Given the description of an element on the screen output the (x, y) to click on. 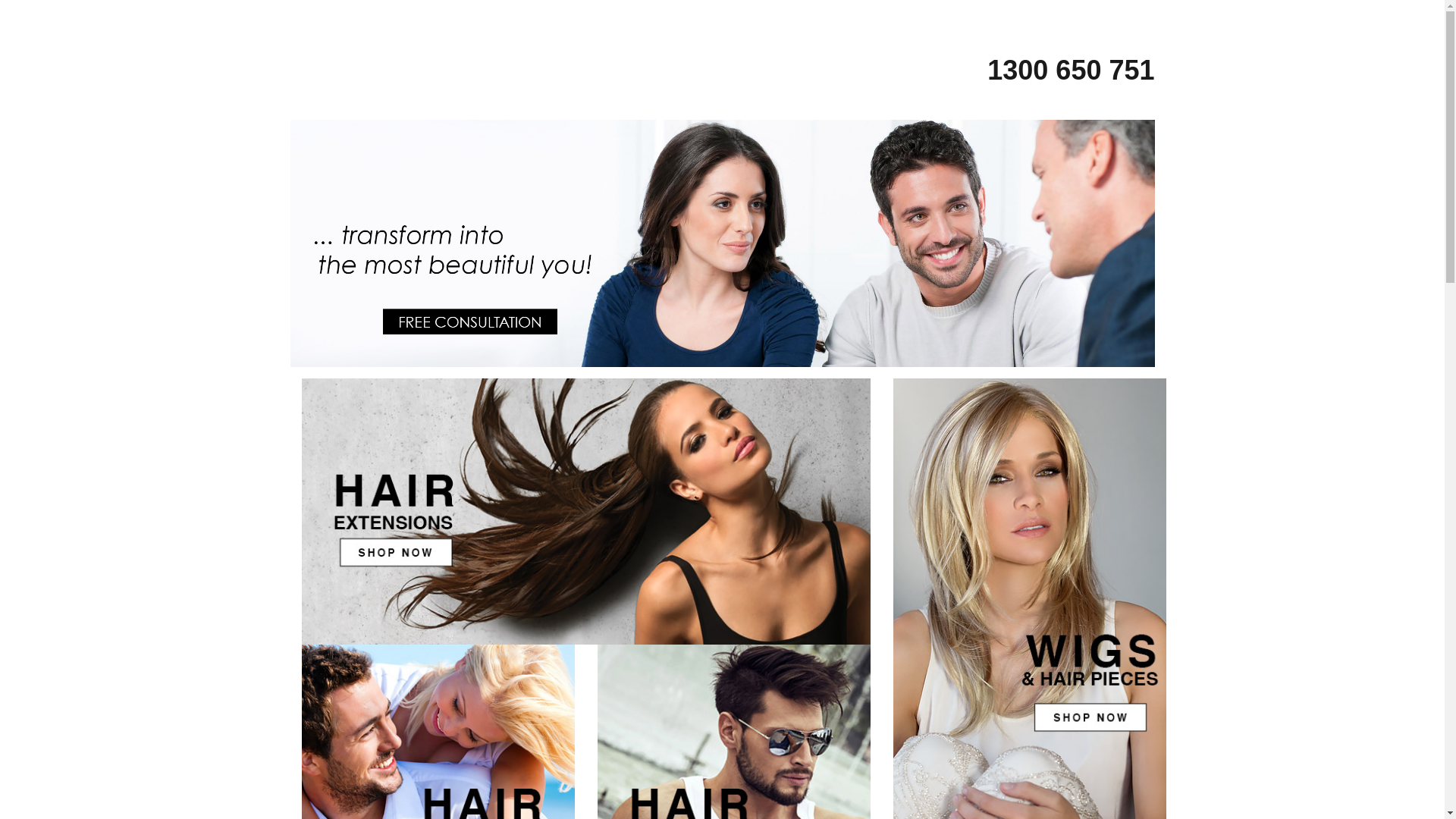
1300 650 751 Element type: text (1055, 68)
